Given the description of an element on the screen output the (x, y) to click on. 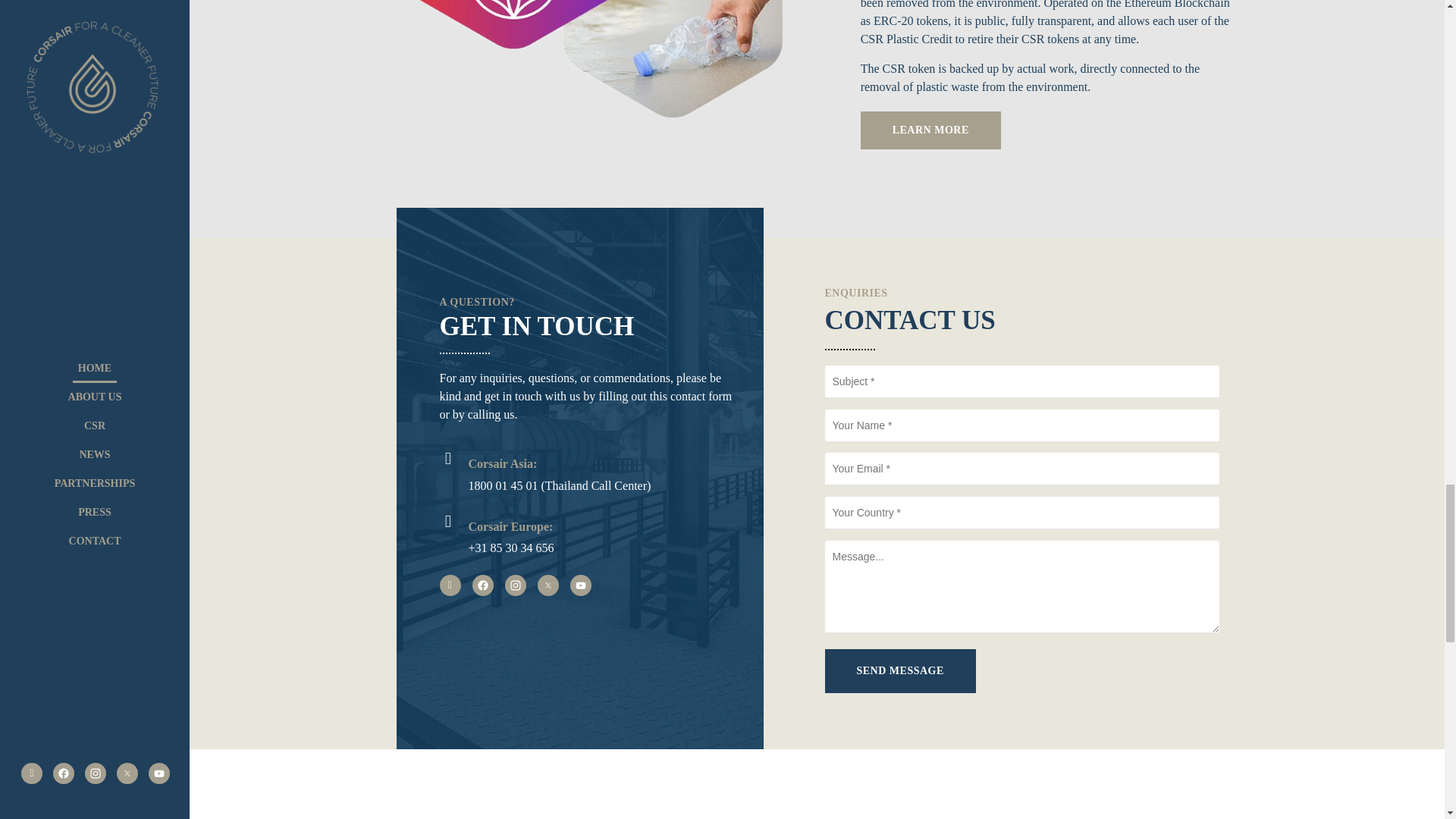
LEARN MORE (930, 130)
